Given the description of an element on the screen output the (x, y) to click on. 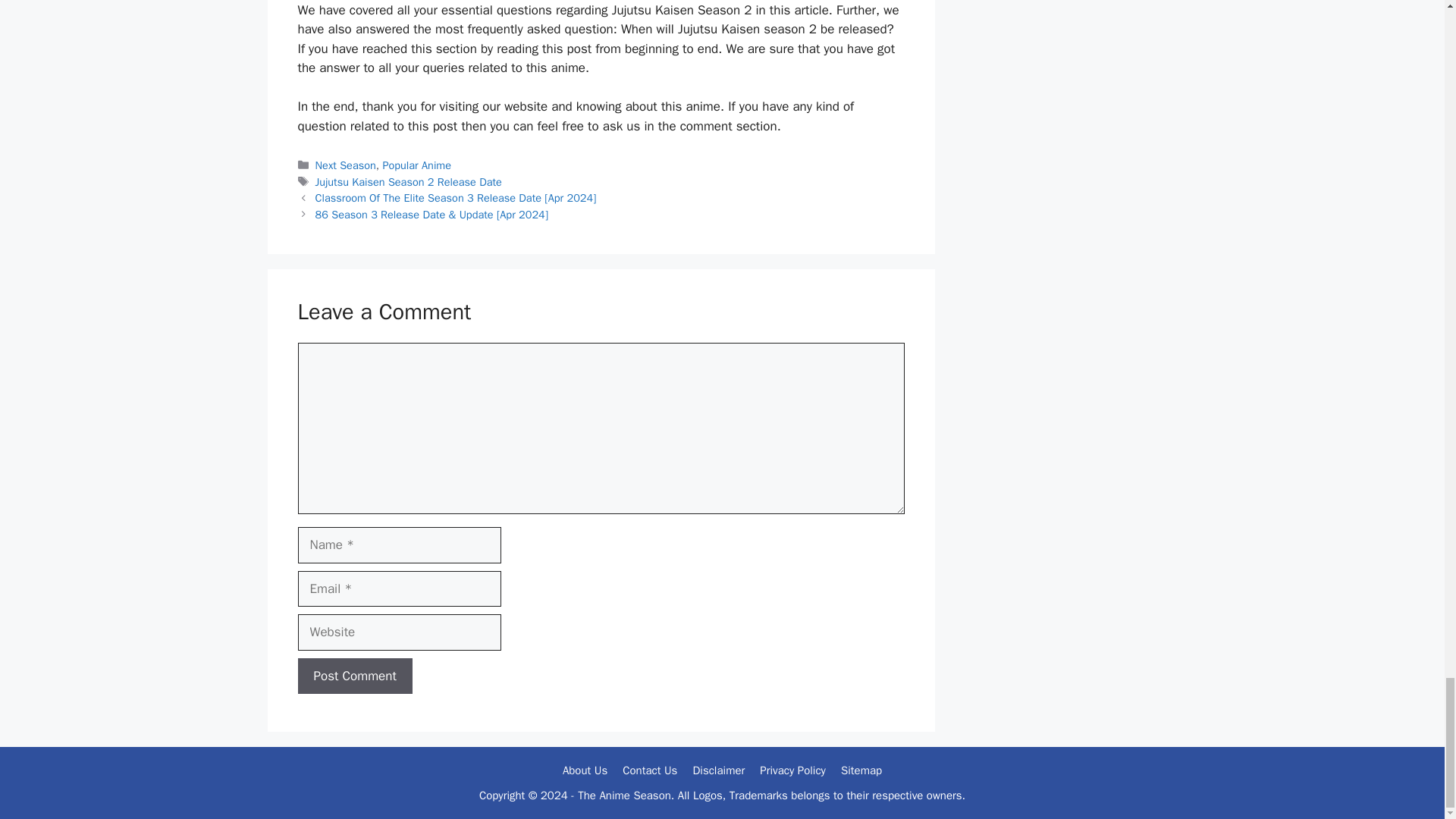
Post Comment (354, 676)
Next Season (345, 164)
